Given the description of an element on the screen output the (x, y) to click on. 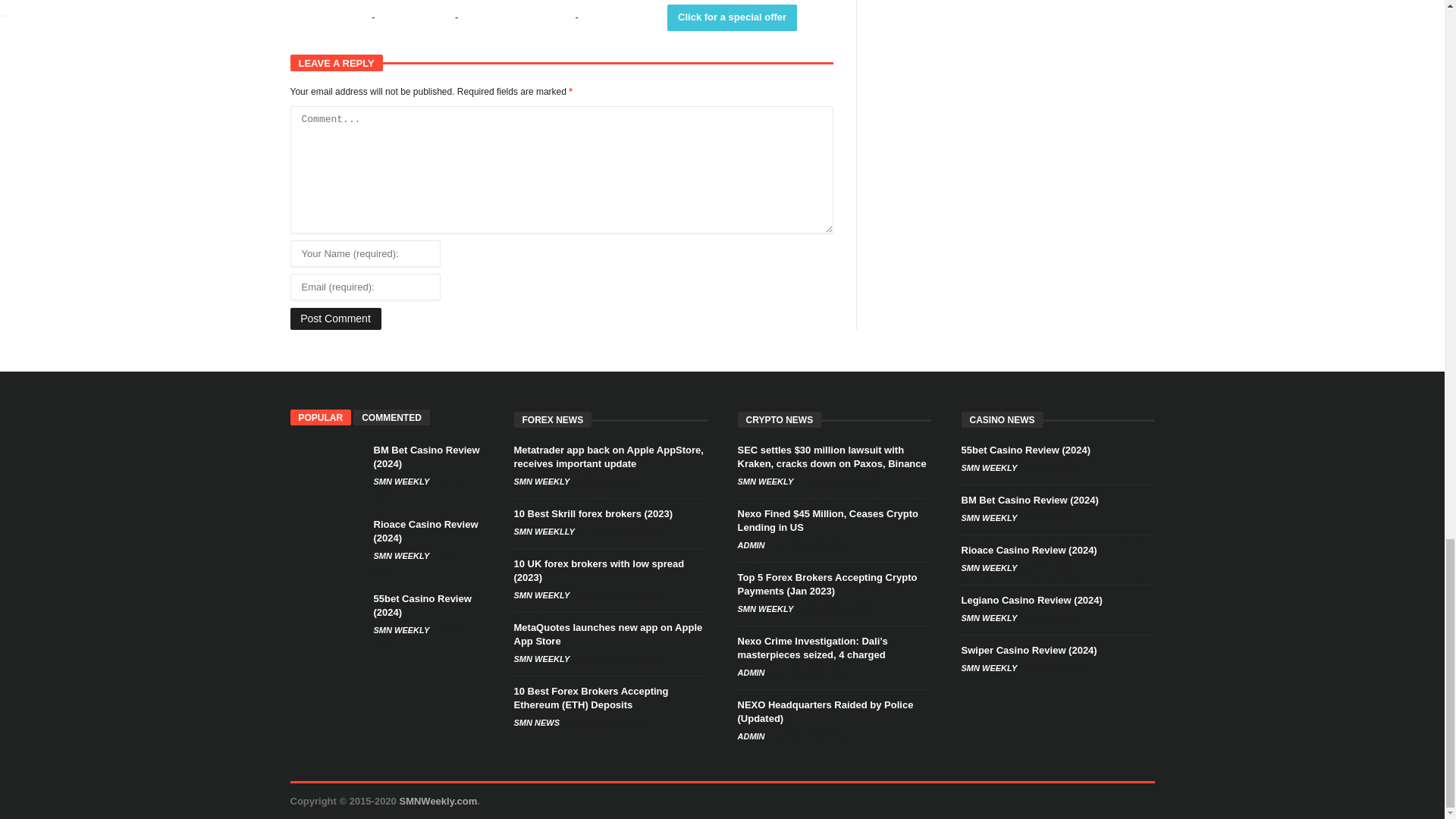
Post Comment (334, 318)
